Given the description of an element on the screen output the (x, y) to click on. 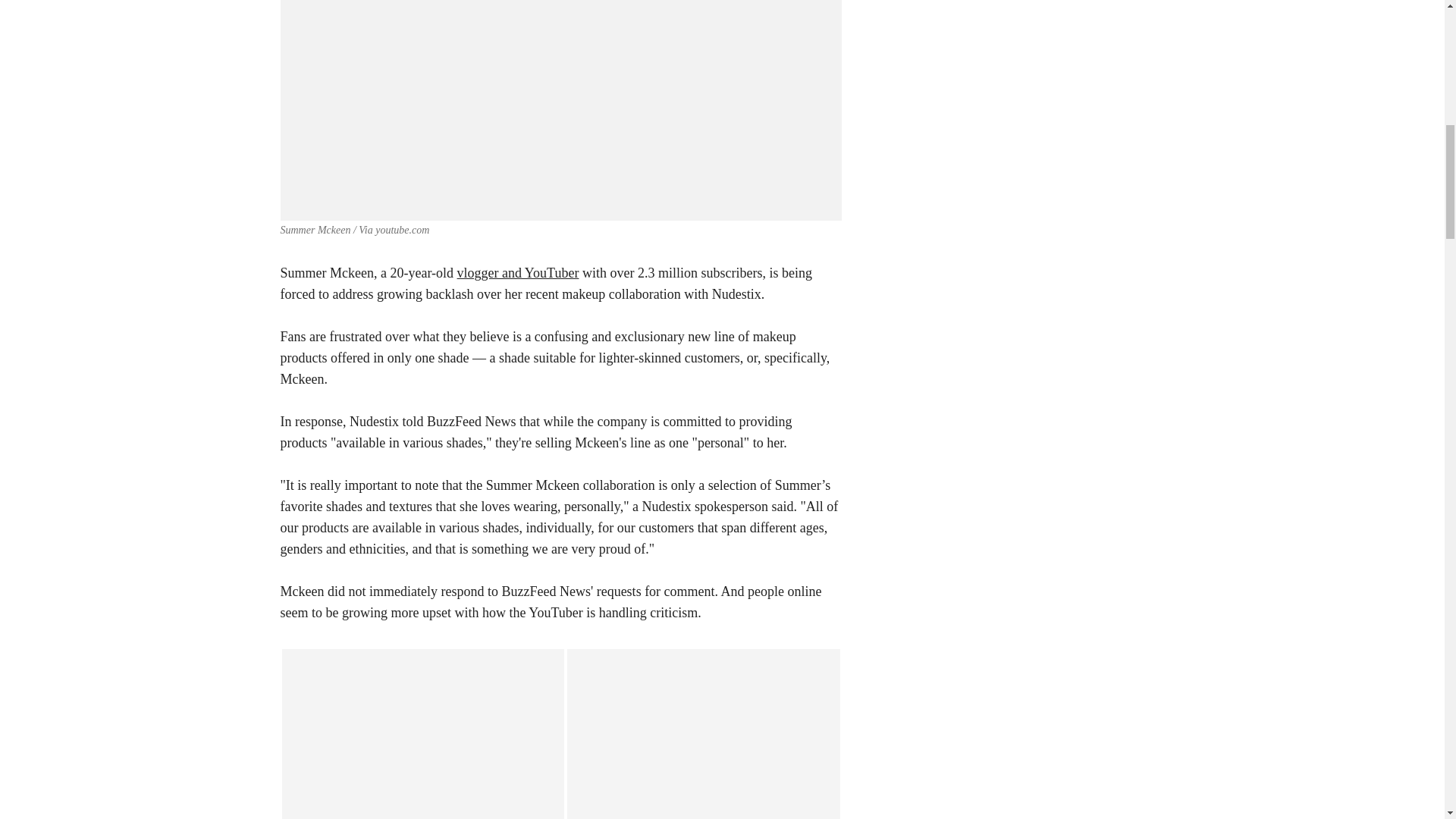
vlogger and YouTuber (518, 272)
youtube.com (402, 229)
